Given the description of an element on the screen output the (x, y) to click on. 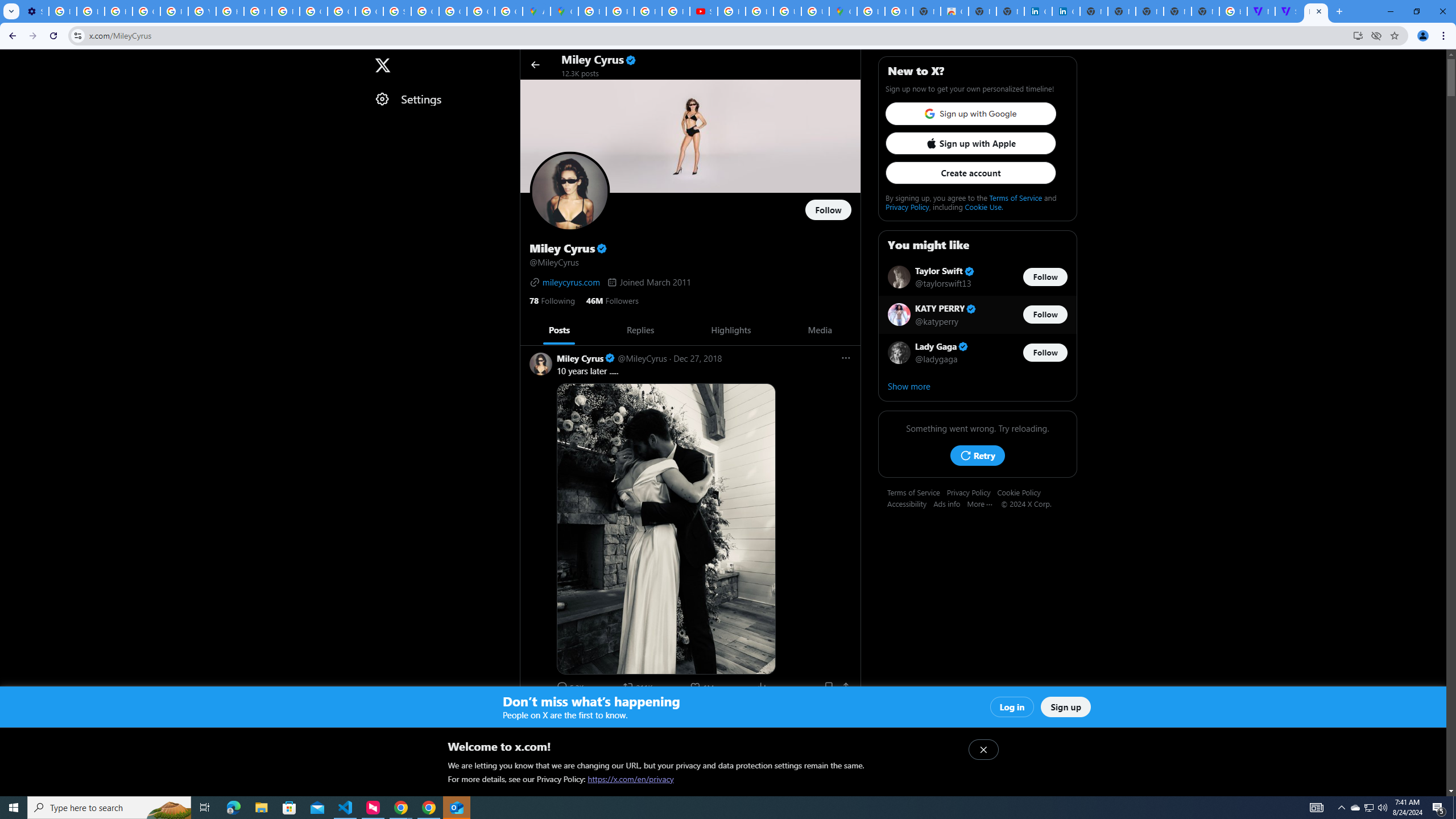
Google Maps (842, 11)
Show more (977, 386)
211521 reposts. Repost (639, 686)
46M Followers (612, 300)
Cookie Policy | LinkedIn (1065, 11)
Learn how to find your photos - Google Photos Help (90, 11)
Taylor Swift Verified account (945, 271)
Previous (532, 329)
Ads info (949, 503)
Share post (845, 686)
Dec 27, 2018 (697, 357)
1066897 Likes. Like (703, 686)
